Given the description of an element on the screen output the (x, y) to click on. 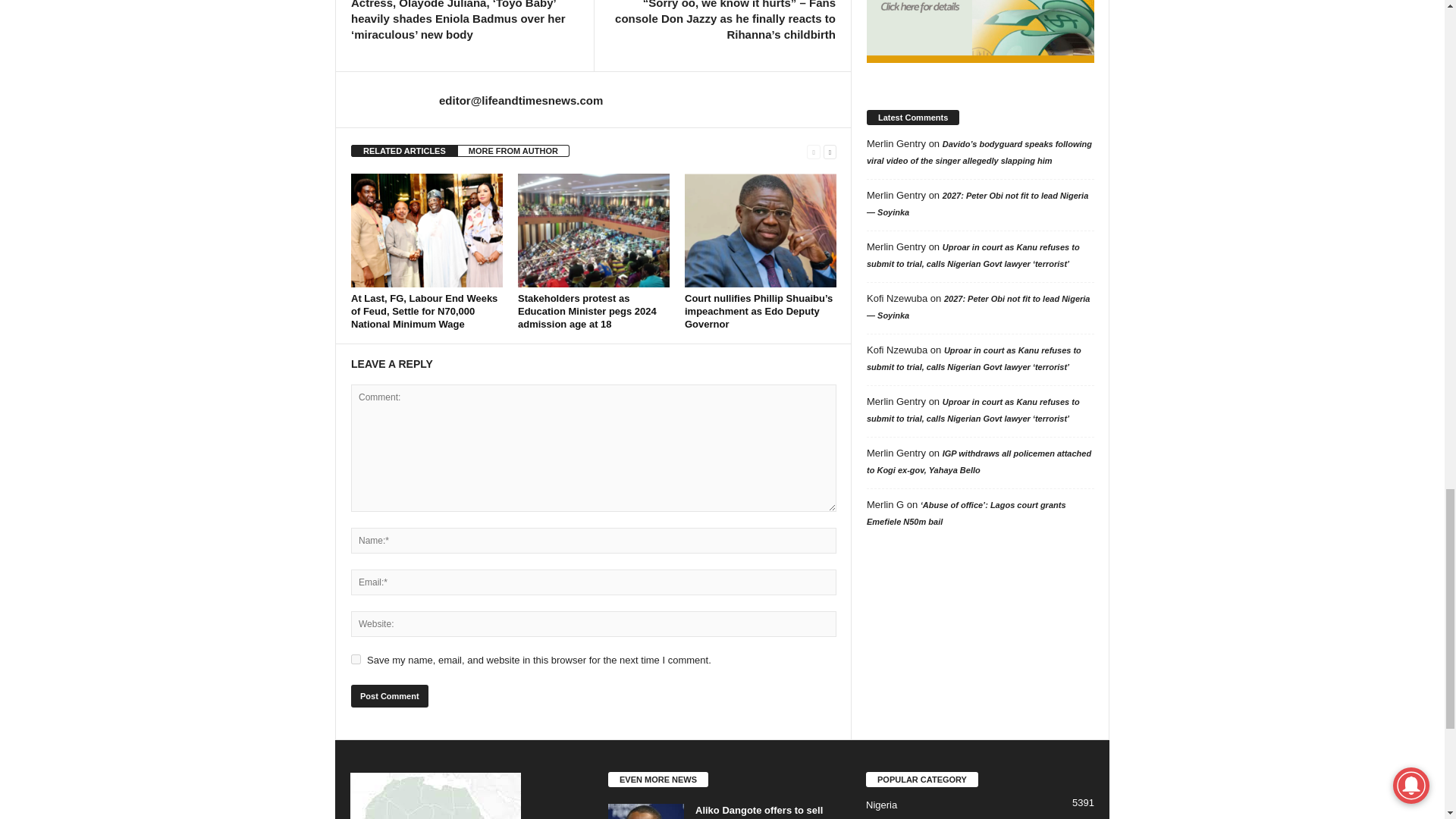
Post Comment (389, 695)
yes (355, 659)
